Given the description of an element on the screen output the (x, y) to click on. 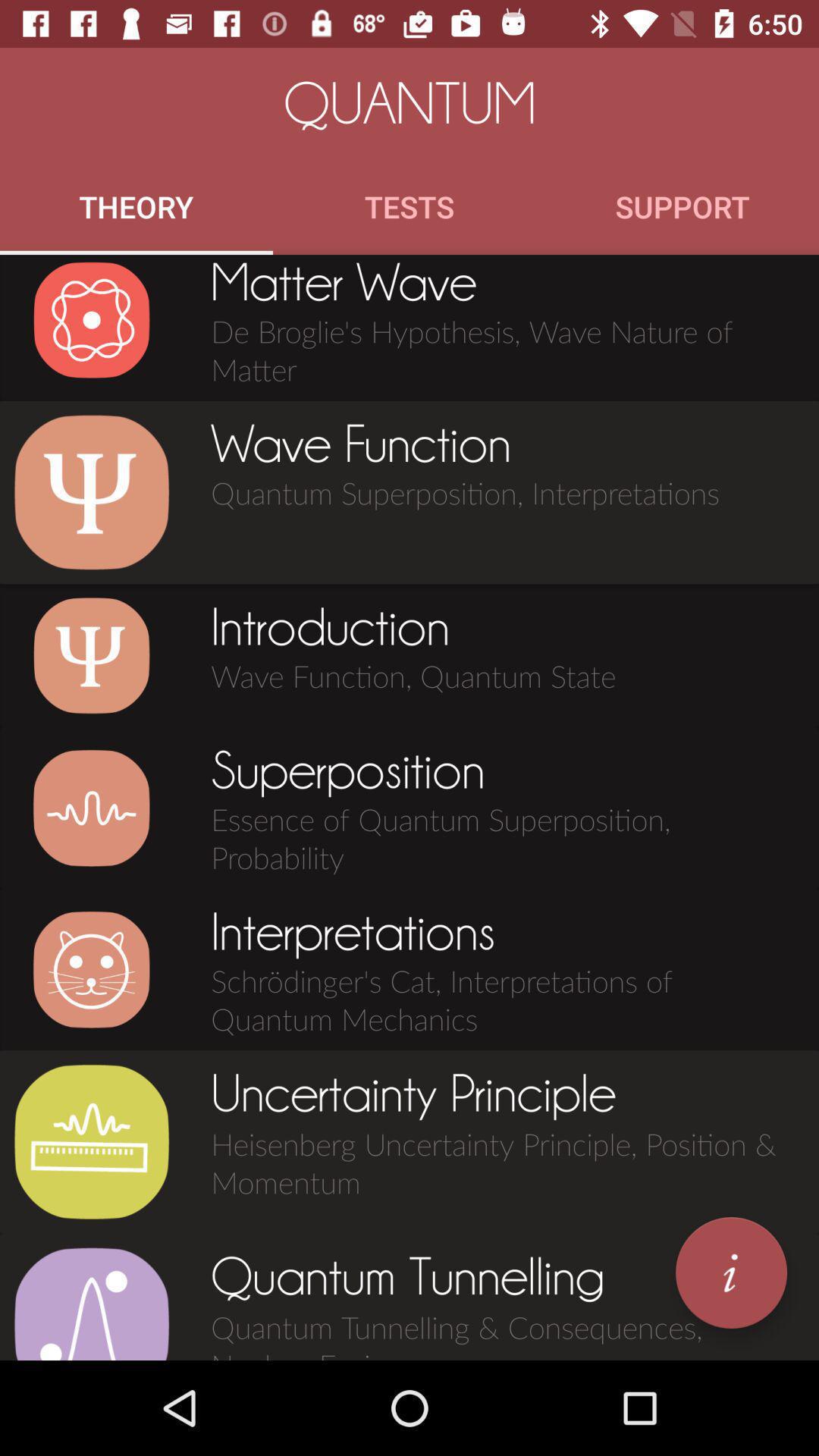
launch the icon to the left of matter wave (91, 319)
